Given the description of an element on the screen output the (x, y) to click on. 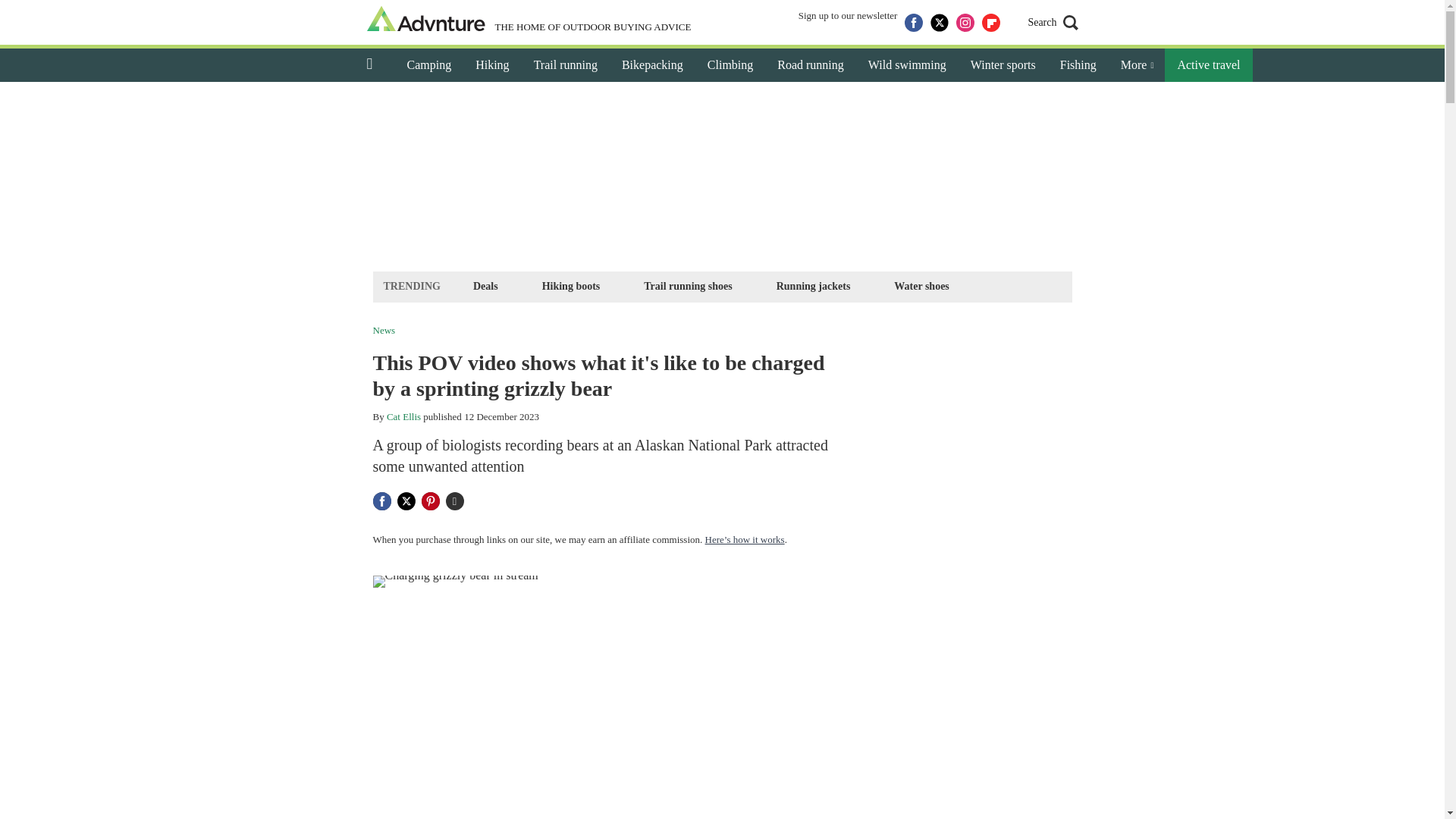
Camping (428, 64)
Road running (810, 64)
Fishing (1078, 64)
Active travel (1208, 64)
Deals (485, 286)
Sign up to our newsletter (847, 22)
THE HOME OF OUTDOOR BUYING ADVICE (528, 20)
Wild swimming (907, 64)
Bikepacking (652, 64)
Trail running shoes (687, 286)
Hiking (492, 64)
Trail running (565, 64)
Cat Ellis (403, 416)
Climbing (730, 64)
Winter sports (1003, 64)
